Given the description of an element on the screen output the (x, y) to click on. 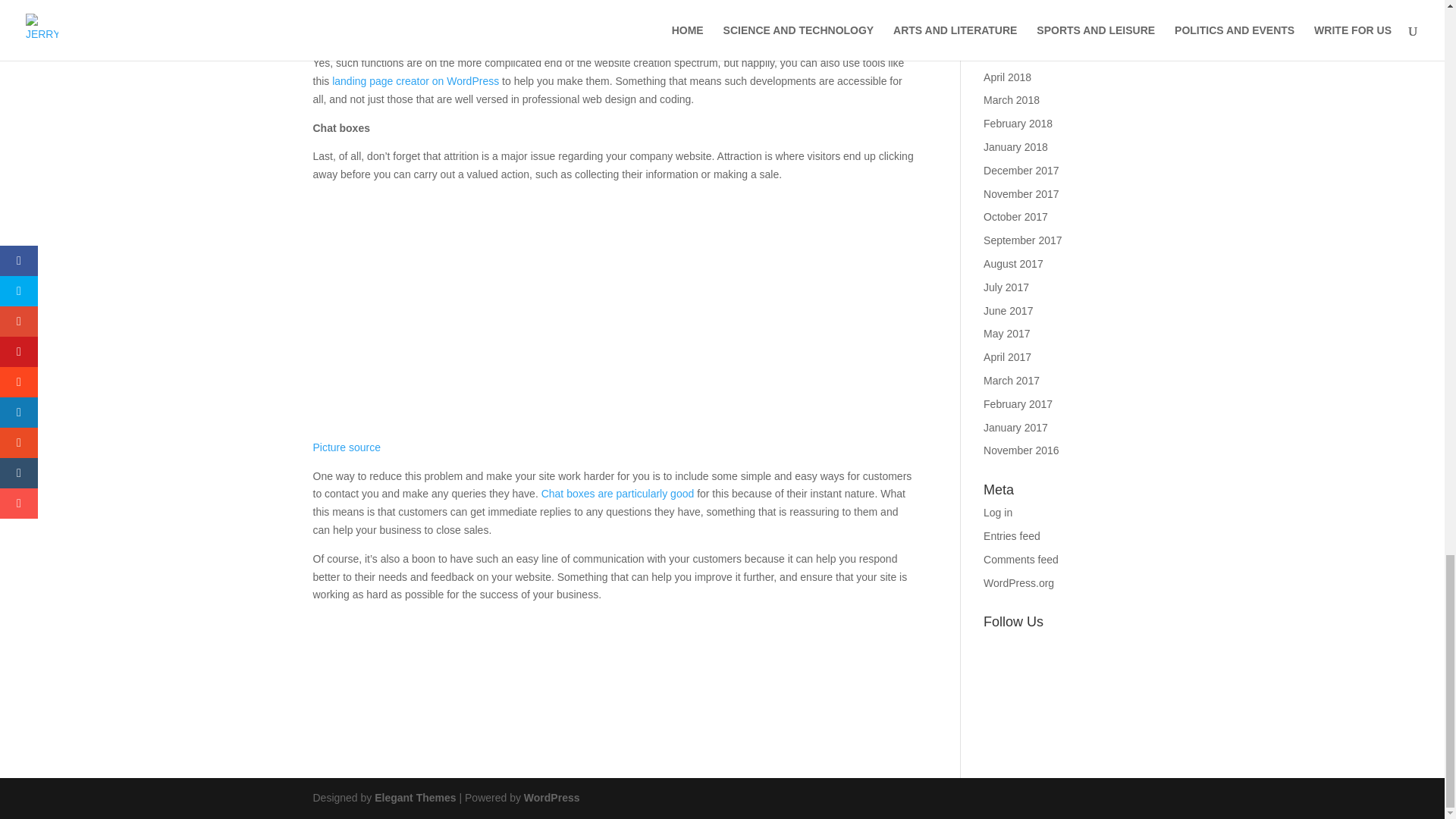
Chat boxes are particularly good (617, 493)
Picture source (346, 33)
Picture source (346, 447)
landing page creator on WordPress (415, 80)
Premium WordPress Themes (414, 797)
